Given the description of an element on the screen output the (x, y) to click on. 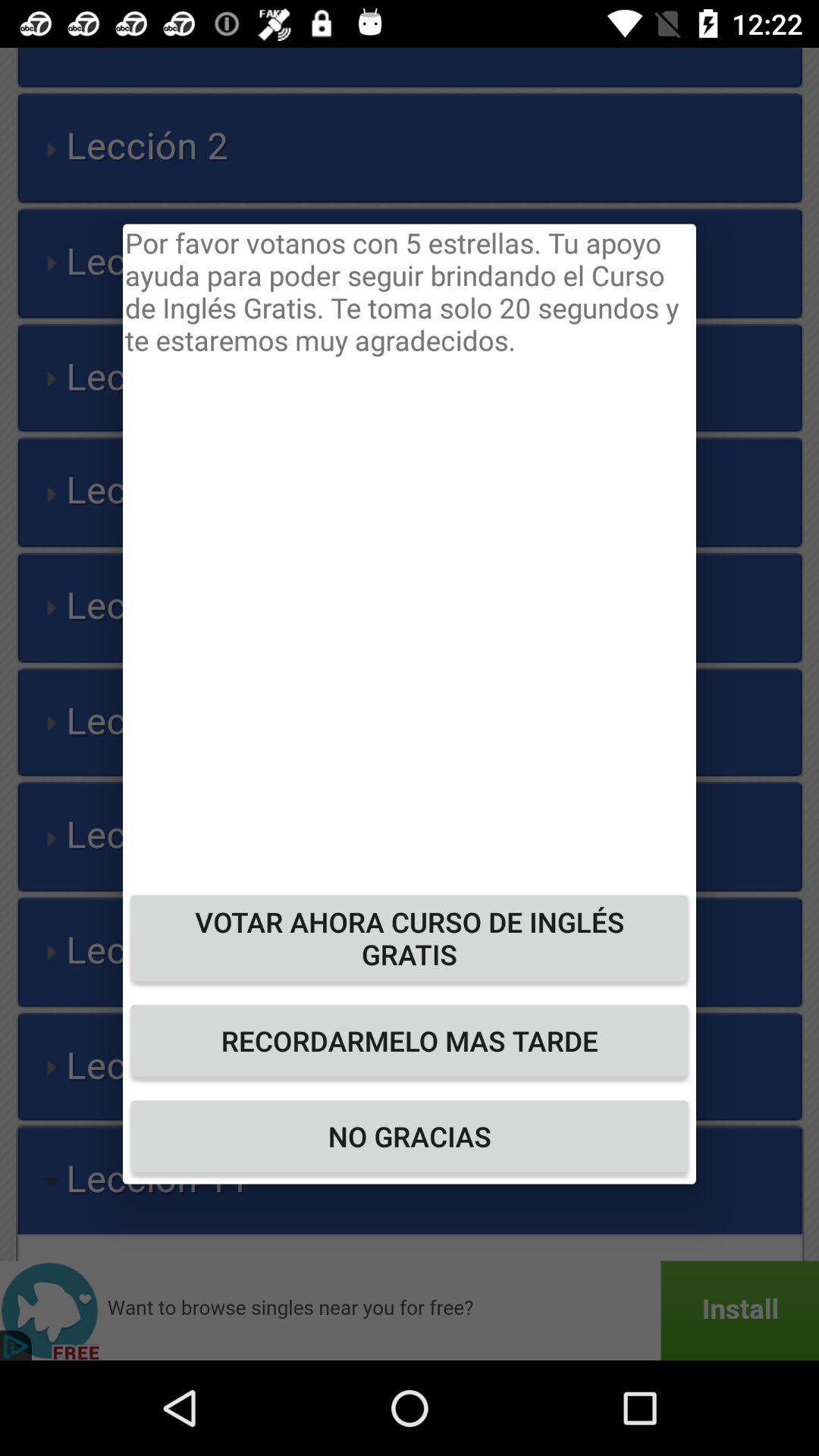
choose the recordarmelo mas tarde icon (409, 1040)
